Given the description of an element on the screen output the (x, y) to click on. 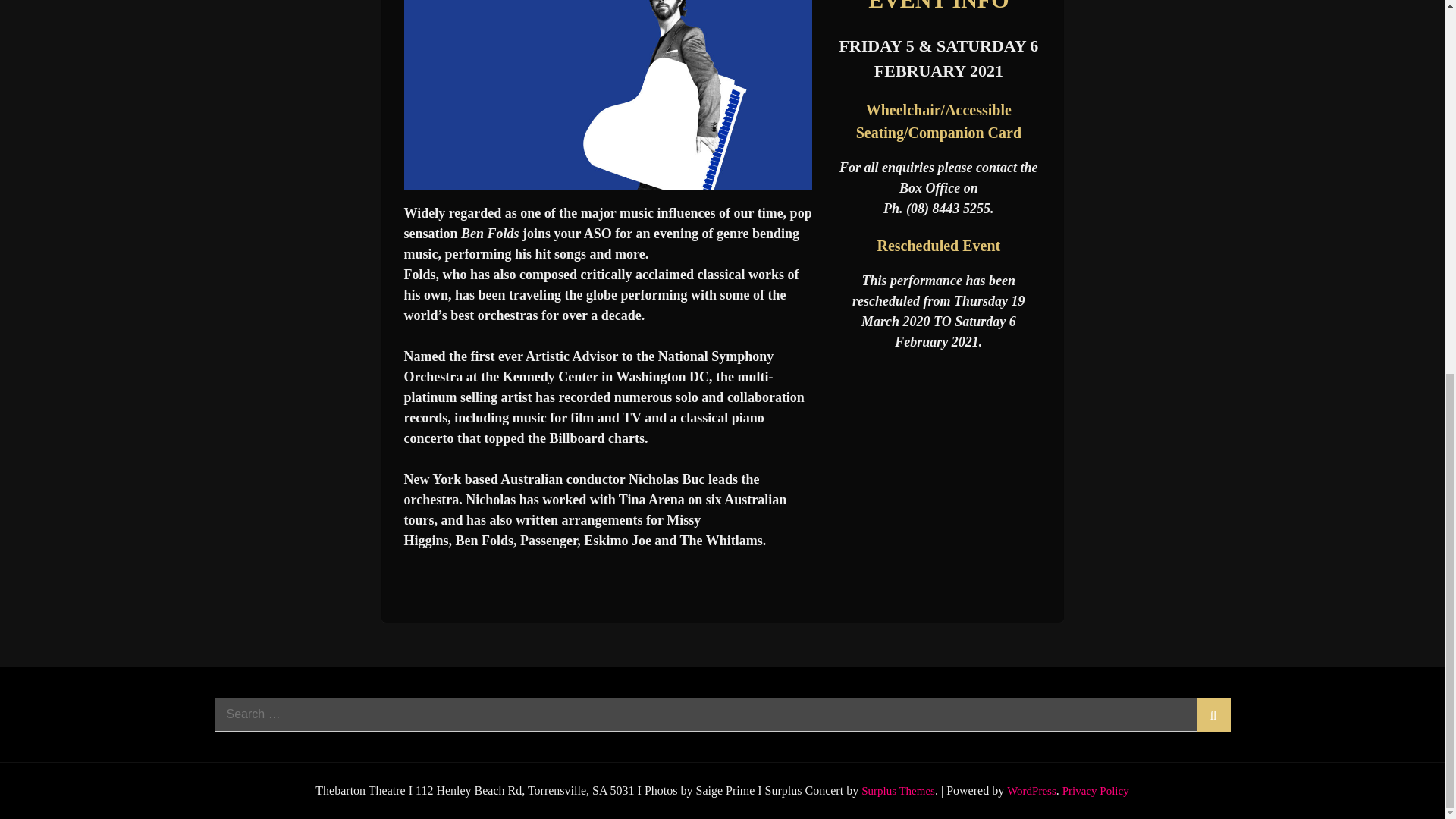
WordPress (1032, 789)
Search for: (722, 714)
Surplus Themes (897, 789)
Privacy Policy (1095, 789)
